Given the description of an element on the screen output the (x, y) to click on. 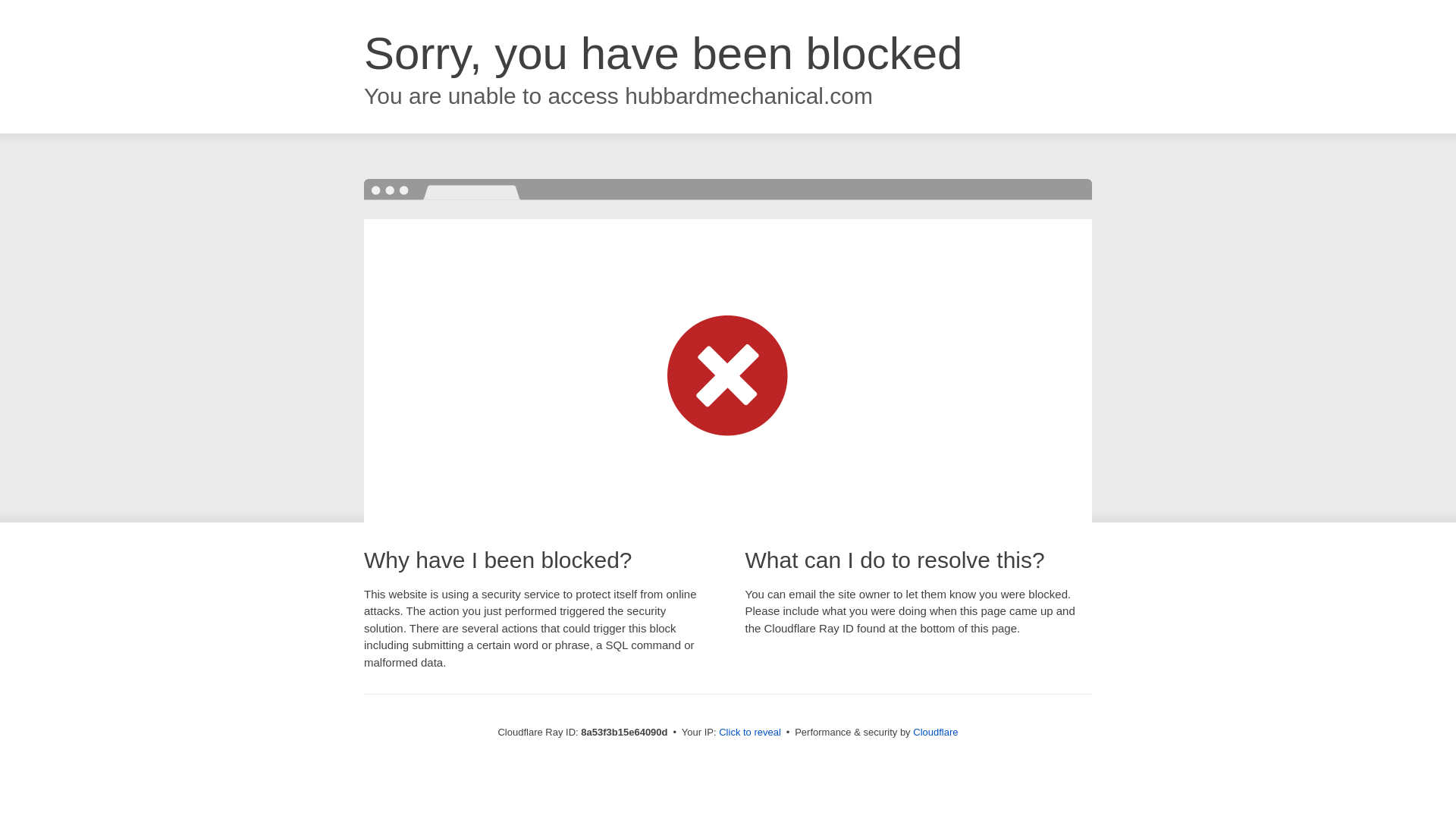
Click to reveal (749, 732)
Cloudflare (935, 731)
